Given the description of an element on the screen output the (x, y) to click on. 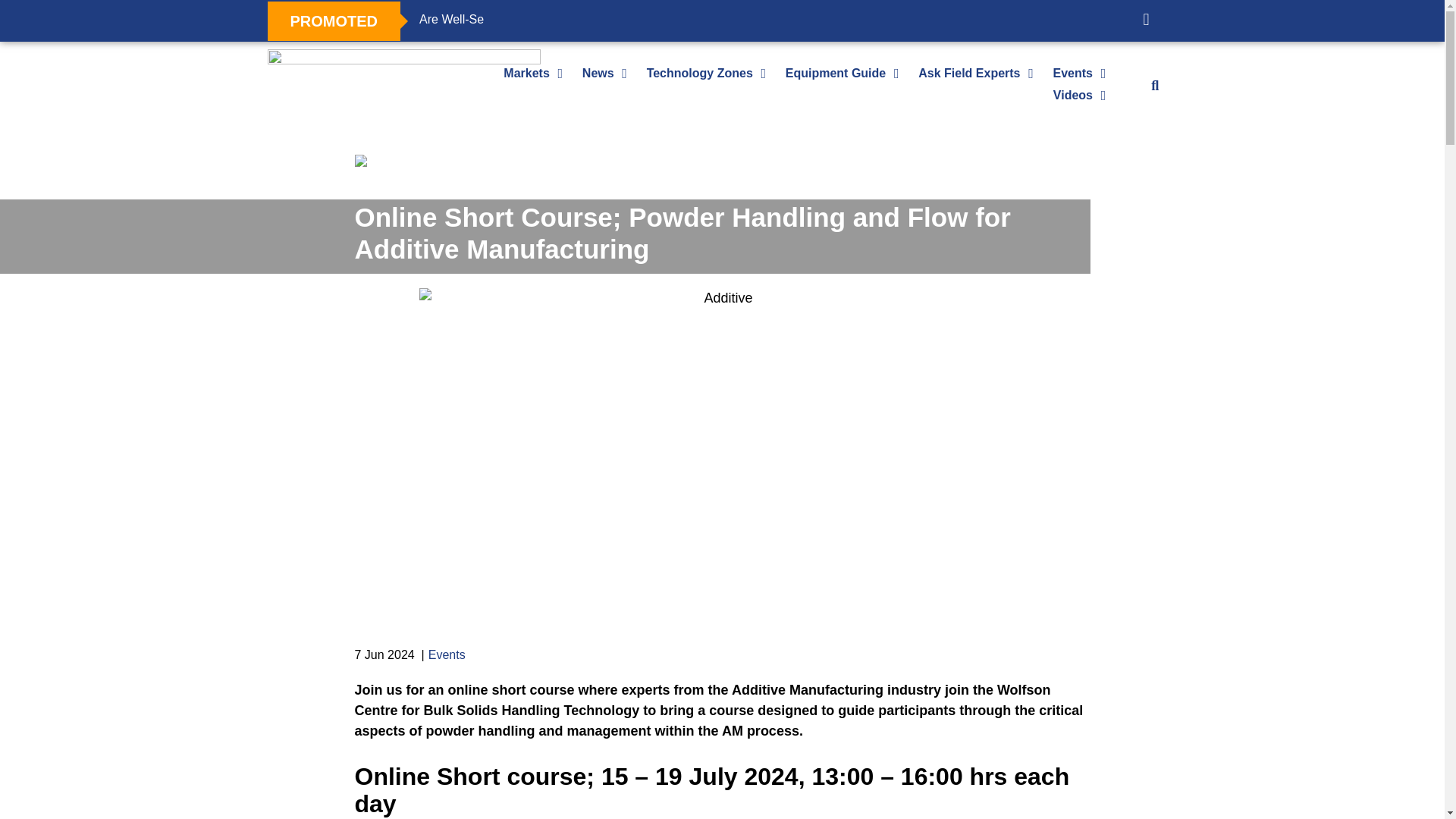
Are Well-Se (451, 19)
Markets (525, 73)
News (598, 73)
